Given the description of an element on the screen output the (x, y) to click on. 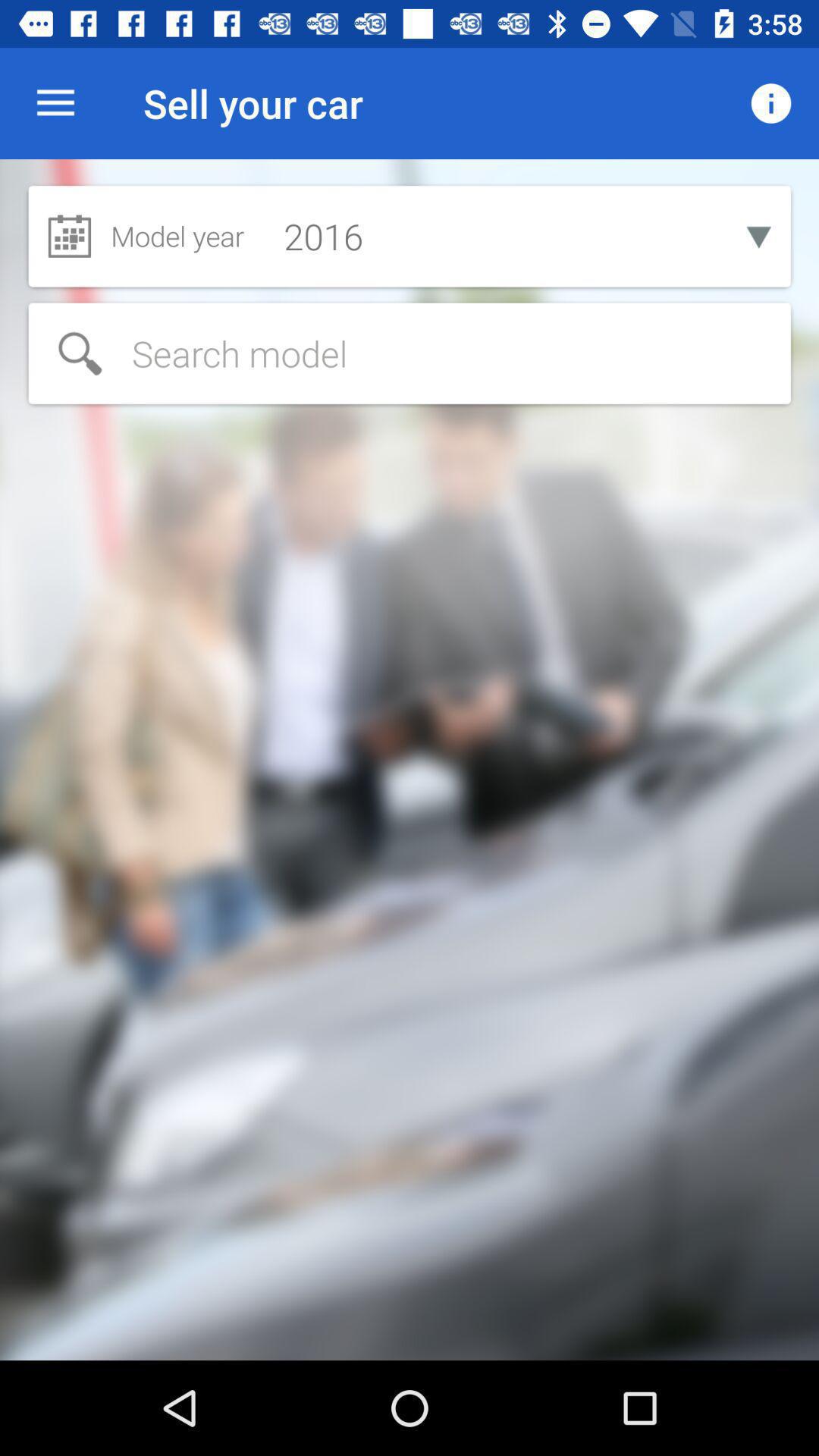
enter search terms (409, 353)
